Given the description of an element on the screen output the (x, y) to click on. 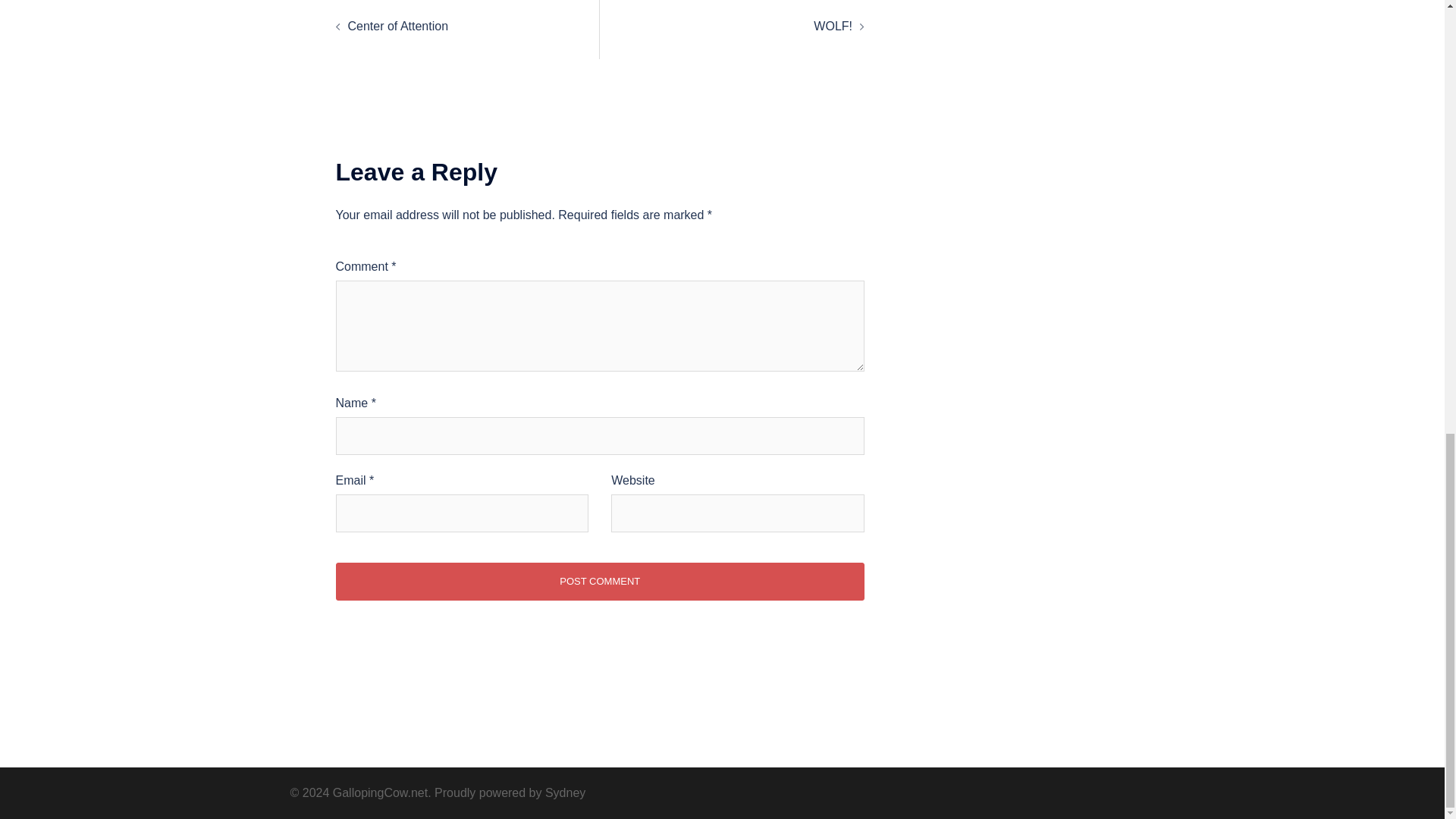
Post Comment (599, 581)
Post Comment (599, 581)
Center of Attention (397, 25)
Sydney (564, 792)
WOLF! (832, 25)
